Given the description of an element on the screen output the (x, y) to click on. 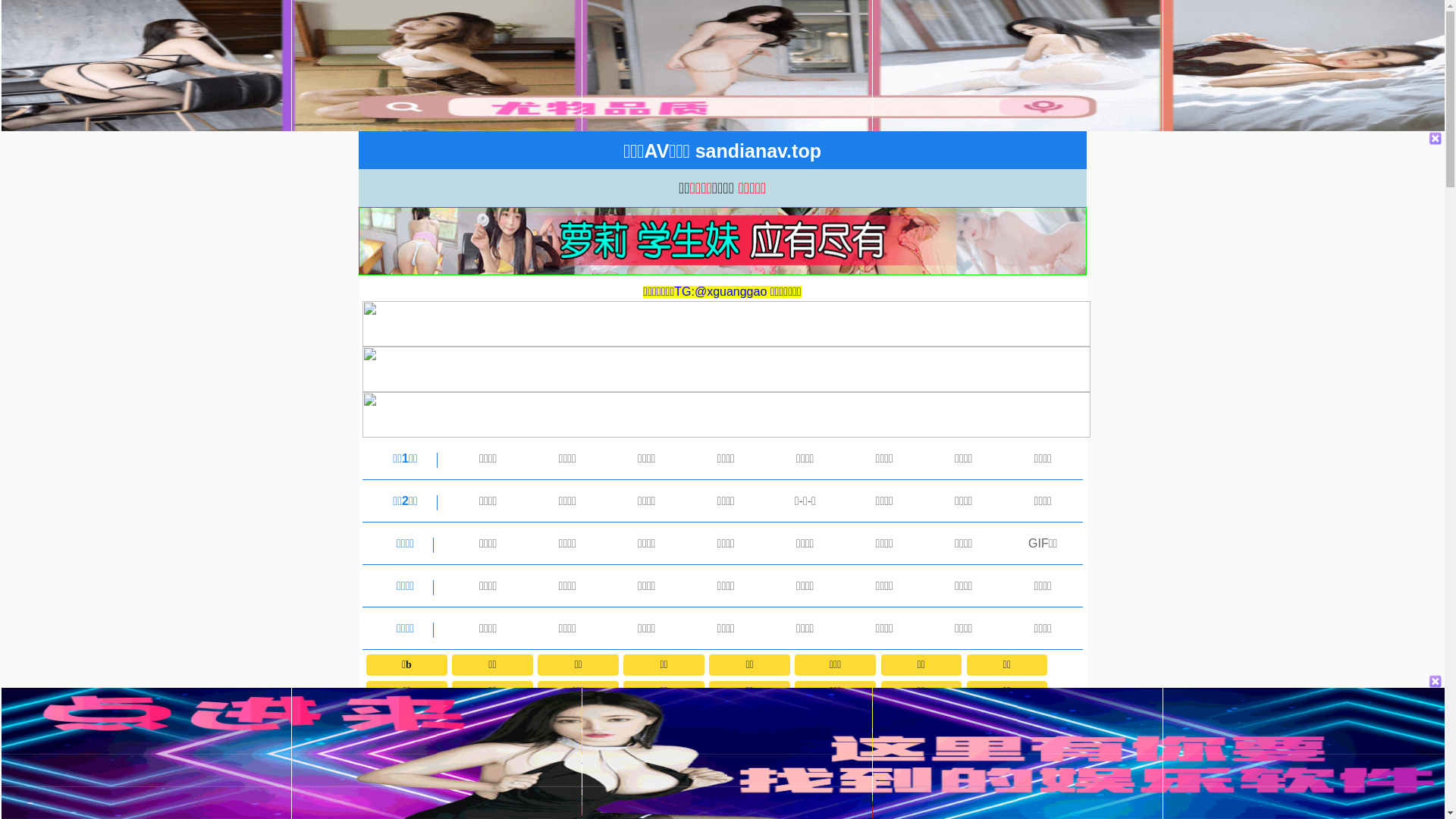
96 Element type: text (663, 717)
